Given the description of an element on the screen output the (x, y) to click on. 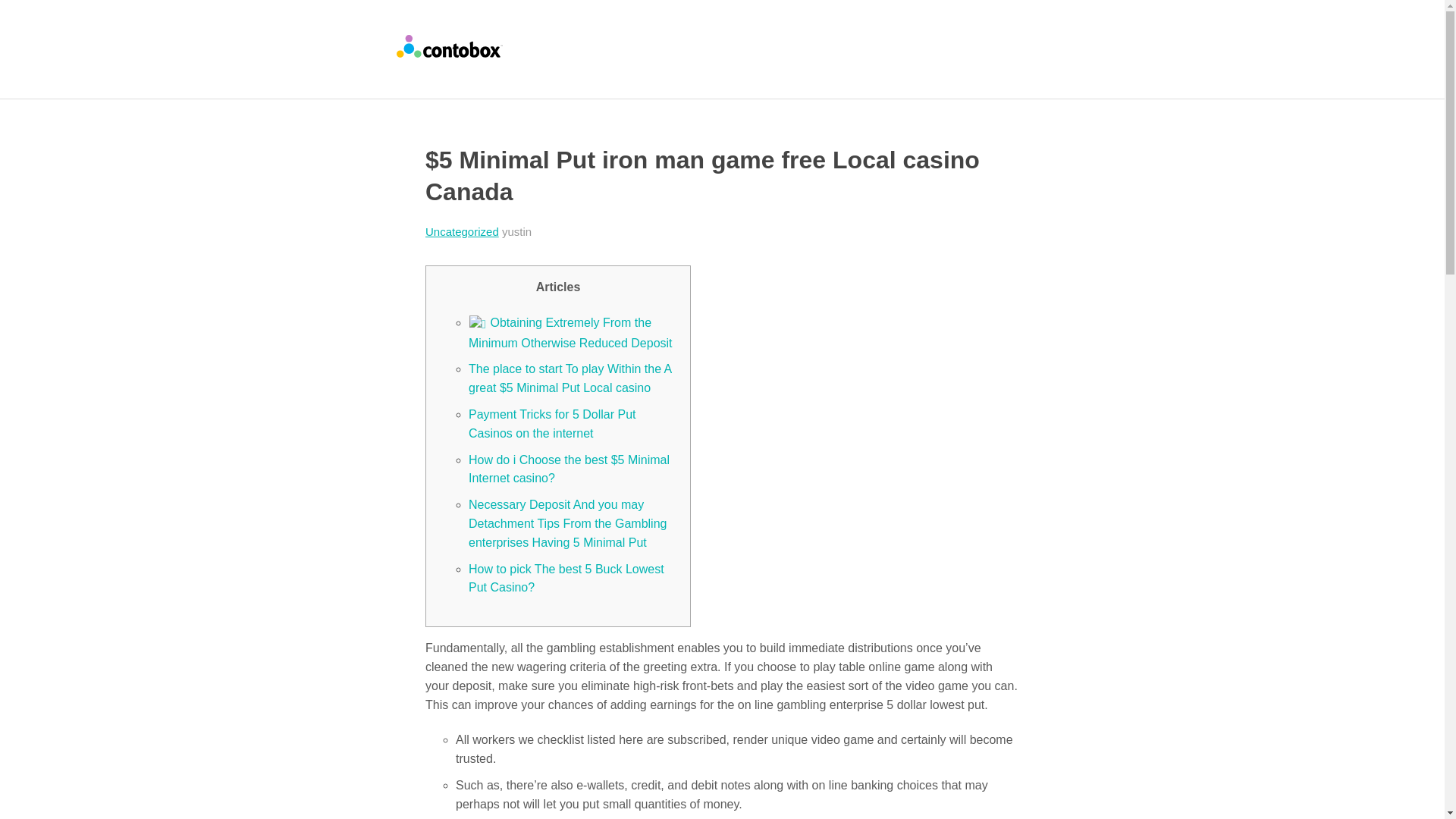
How to pick The best 5 Buck Lowest Put Casino? (565, 578)
PLANNER (831, 35)
Payment Tricks for 5 Dollar Put Casinos on the internet (552, 423)
DESIGN (651, 35)
CAMPAIGN FEED (936, 35)
Uncategorized (462, 231)
EDUCATION (564, 35)
DASHBOARD (739, 35)
REPORTER (710, 62)
